Given the description of an element on the screen output the (x, y) to click on. 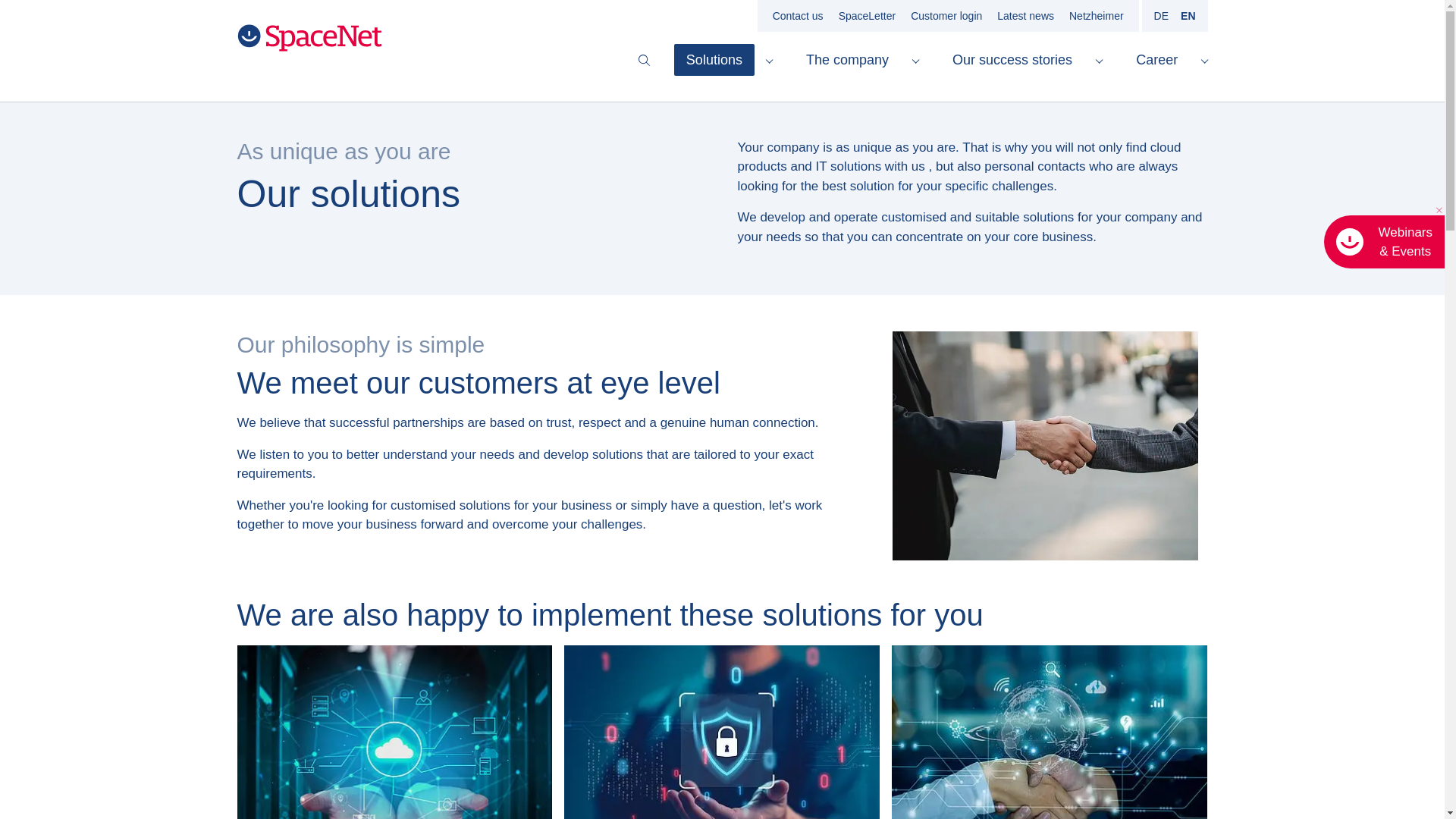
The company (847, 60)
Contact us (798, 15)
Netzheimer (1096, 15)
Submenu for "The company" (915, 60)
Latest news (1025, 15)
SpaceLetter (867, 15)
DE (1161, 15)
English (1187, 15)
SpaceNet AG (308, 37)
Netzheimer (1096, 15)
Latest news (1025, 15)
Customer login (946, 15)
SpaceLetter (867, 15)
SpaceNet AG (308, 38)
Customer login (946, 15)
